Given the description of an element on the screen output the (x, y) to click on. 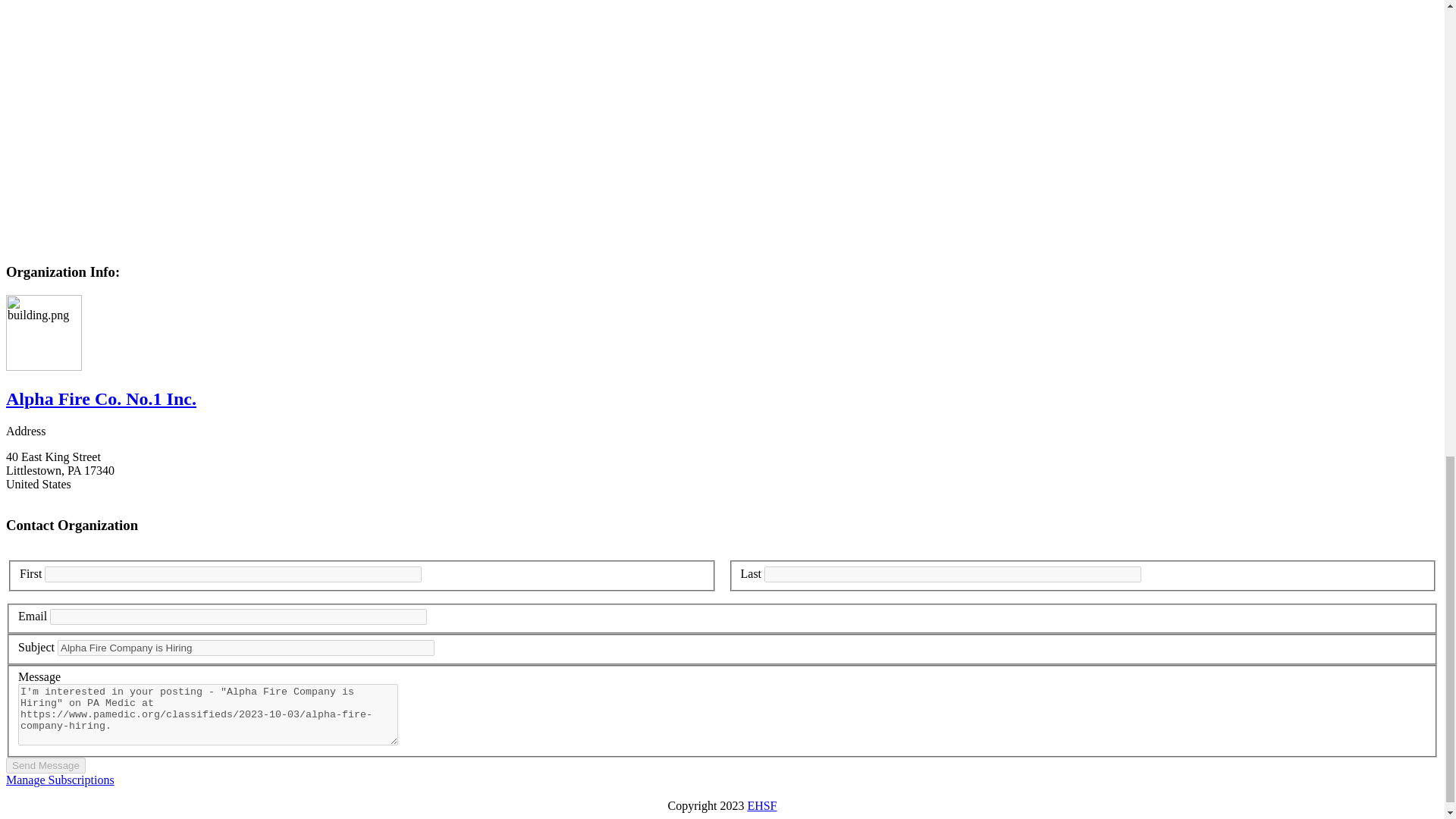
EHSF (761, 805)
Manage Subscriptions (60, 779)
Alpha Fire Co. No.1 Inc. (100, 398)
building.png (43, 332)
Alpha Fire Company is Hiring (245, 647)
Send Message (45, 765)
